Given the description of an element on the screen output the (x, y) to click on. 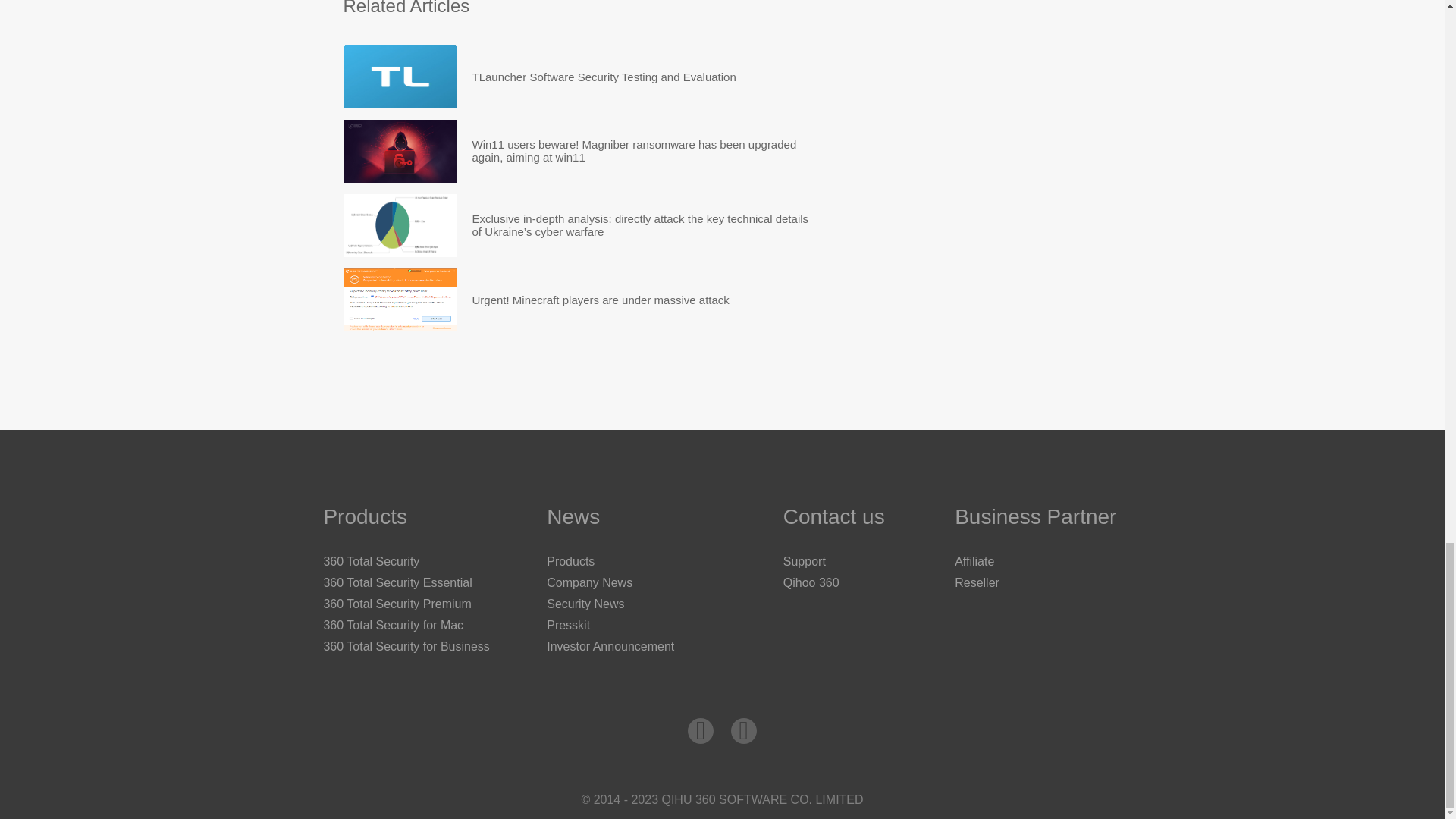
Urgent! Minecraft players are under massive attack (600, 299)
TLauncher Software Security Testing and Evaluation (399, 76)
TLauncher Software Security Testing and Evaluation (603, 76)
Urgent! Minecraft players are under massive attack (399, 299)
TLauncher Software Security Testing and Evaluation (603, 76)
Urgent! Minecraft players are under massive attack (600, 299)
